Given the description of an element on the screen output the (x, y) to click on. 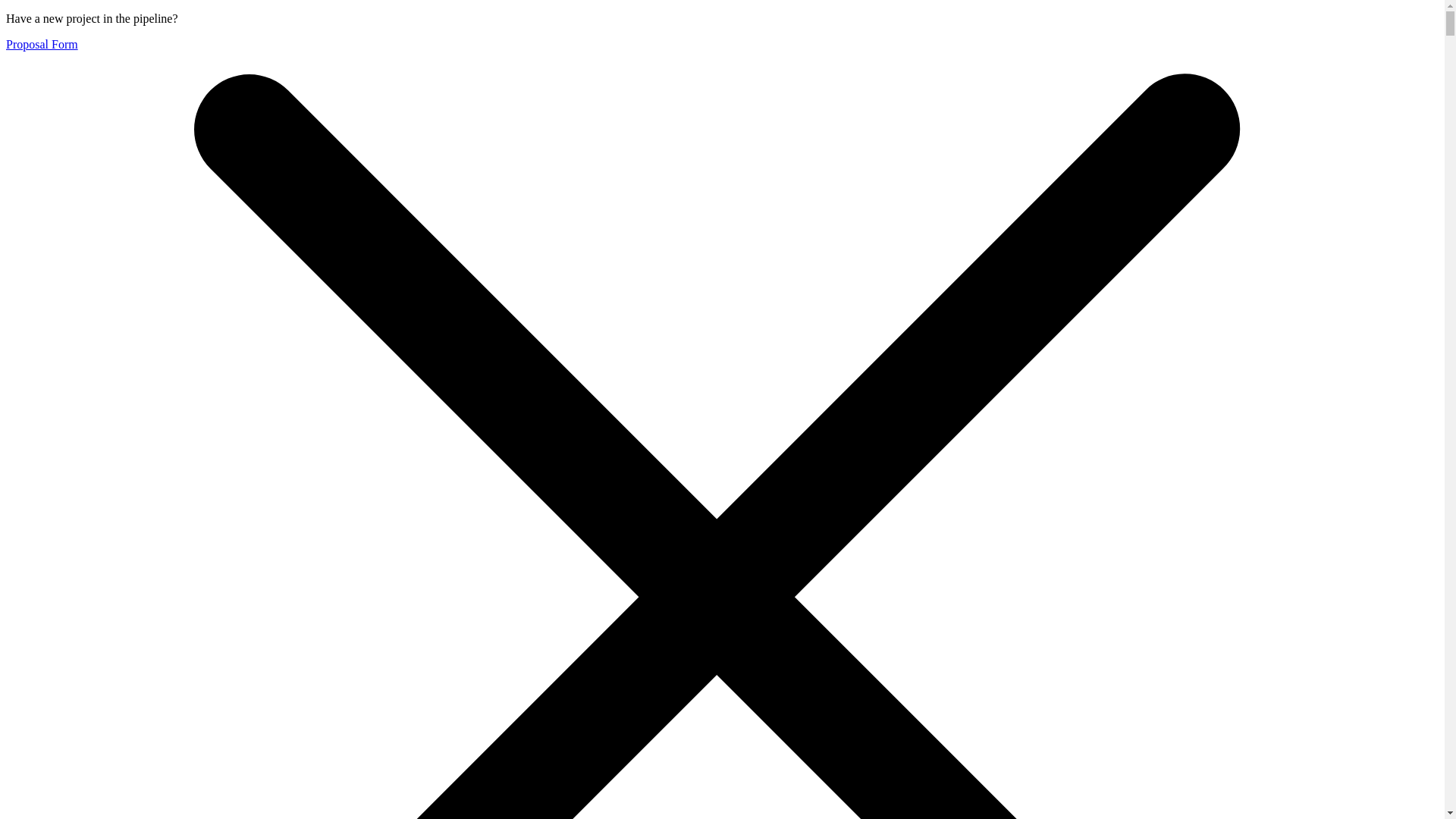
Proposal Form (41, 43)
Proposal Form (41, 43)
